Given the description of an element on the screen output the (x, y) to click on. 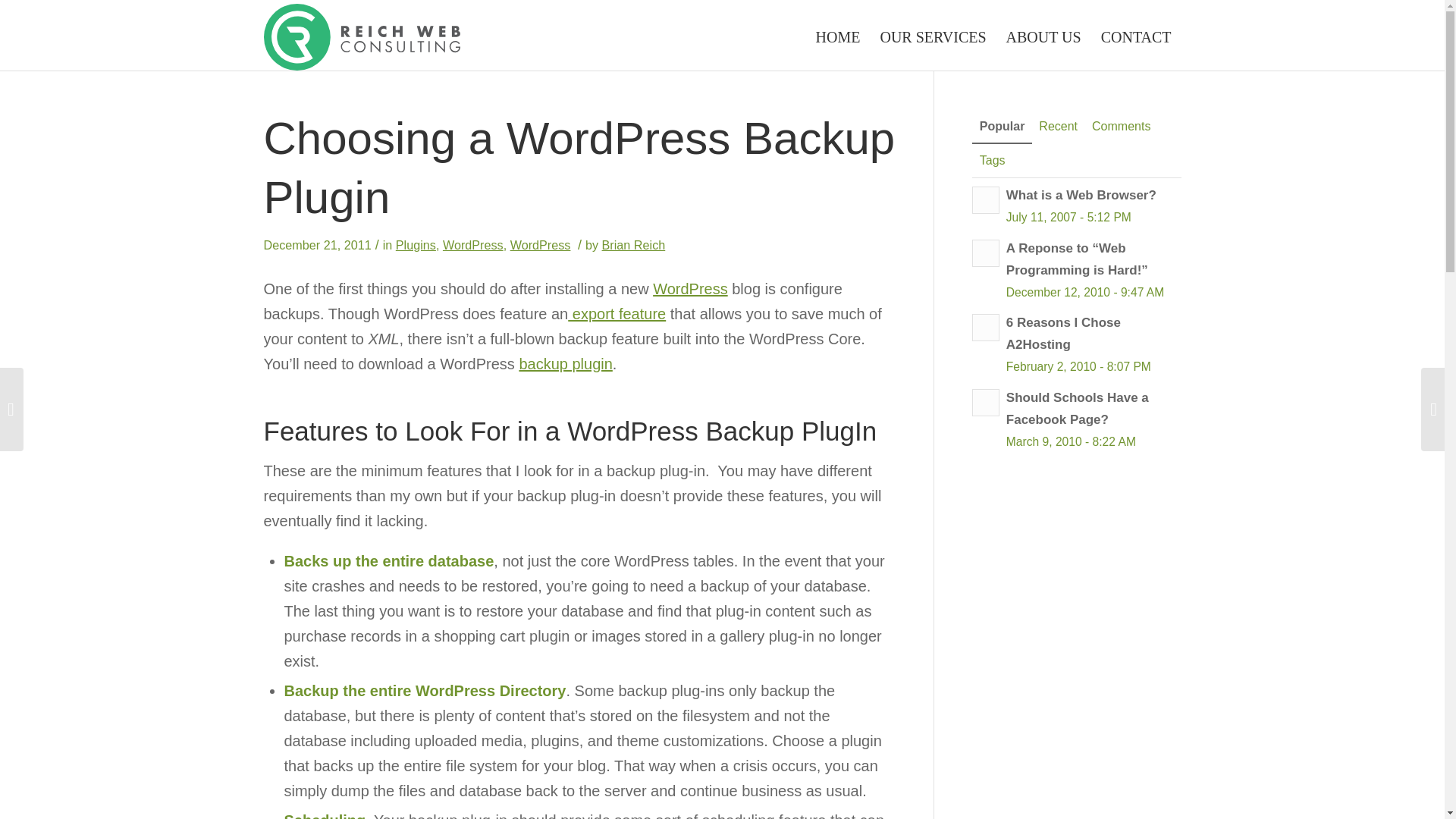
WordPress (540, 244)
WordPress (472, 244)
Permanent Link: Choosing a WordPress Backup Plugin (579, 167)
Backup Plug-ins for WordPress. (564, 363)
Choosing a WordPress Backup Plugin (579, 167)
Plugins (415, 244)
The WordPress Blogging Platform (690, 288)
OUR SERVICES (932, 37)
Posts by Brian Reich (633, 244)
export feature (616, 313)
CONTACT (1135, 37)
About the WordPress export feature. (616, 313)
HOME (838, 37)
backup plugin (564, 363)
ABOUT US (1042, 37)
